Given the description of an element on the screen output the (x, y) to click on. 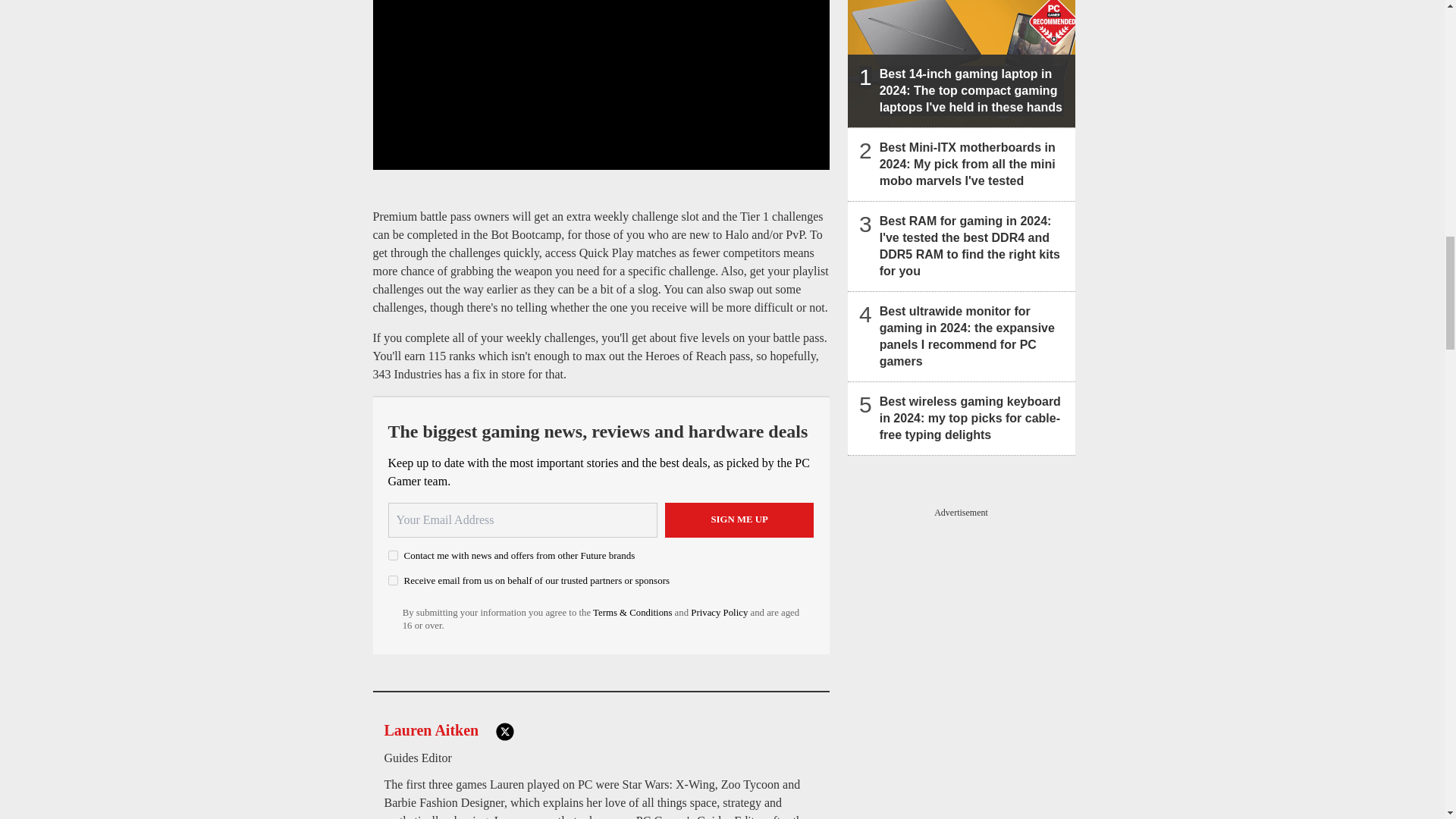
Sign me up (739, 519)
on (392, 555)
on (392, 580)
